Given the description of an element on the screen output the (x, y) to click on. 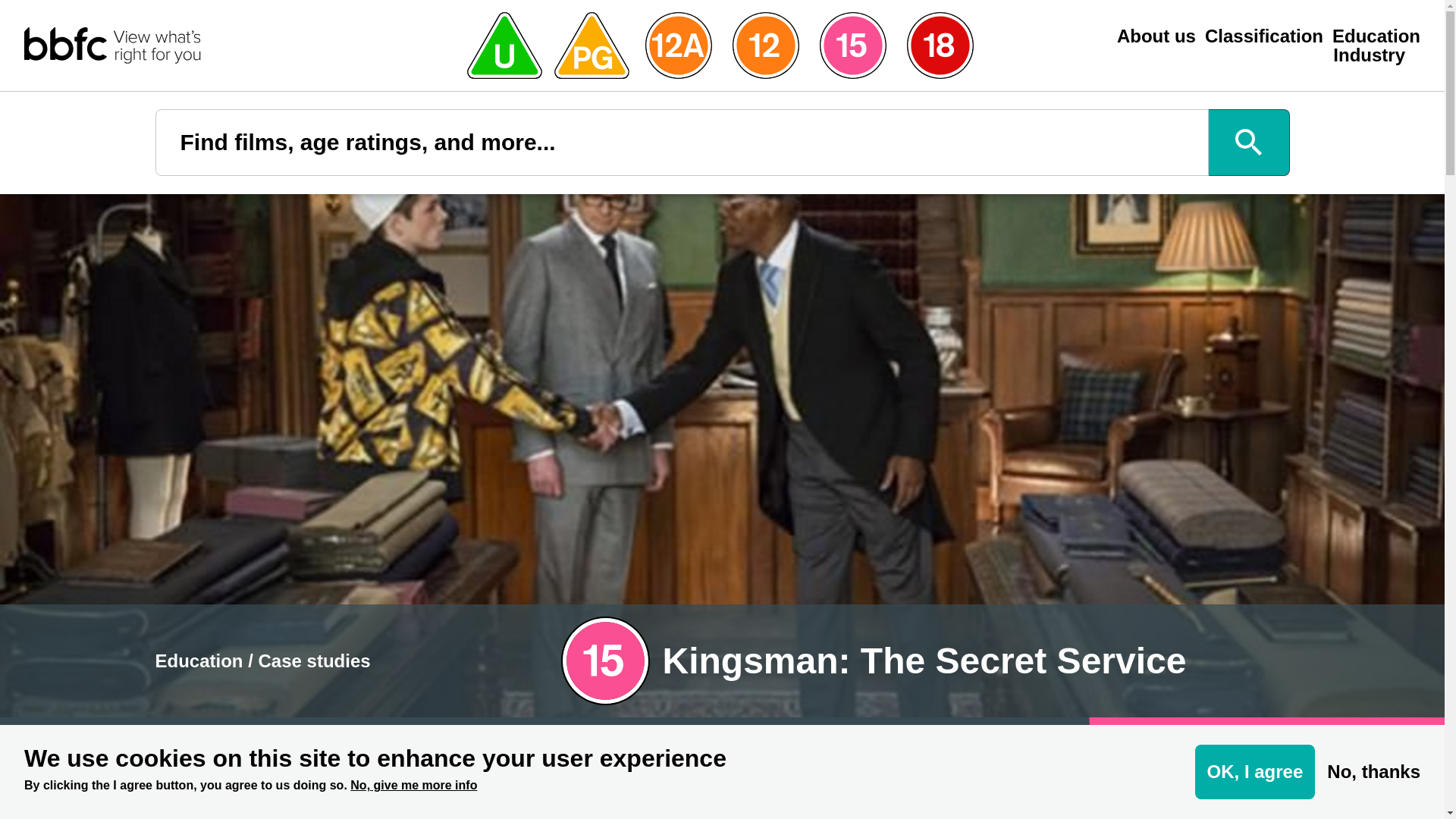
Case studies (315, 660)
Education (1376, 36)
Classification (1264, 36)
Education (198, 660)
Industry (1369, 54)
About us (1155, 36)
